Given the description of an element on the screen output the (x, y) to click on. 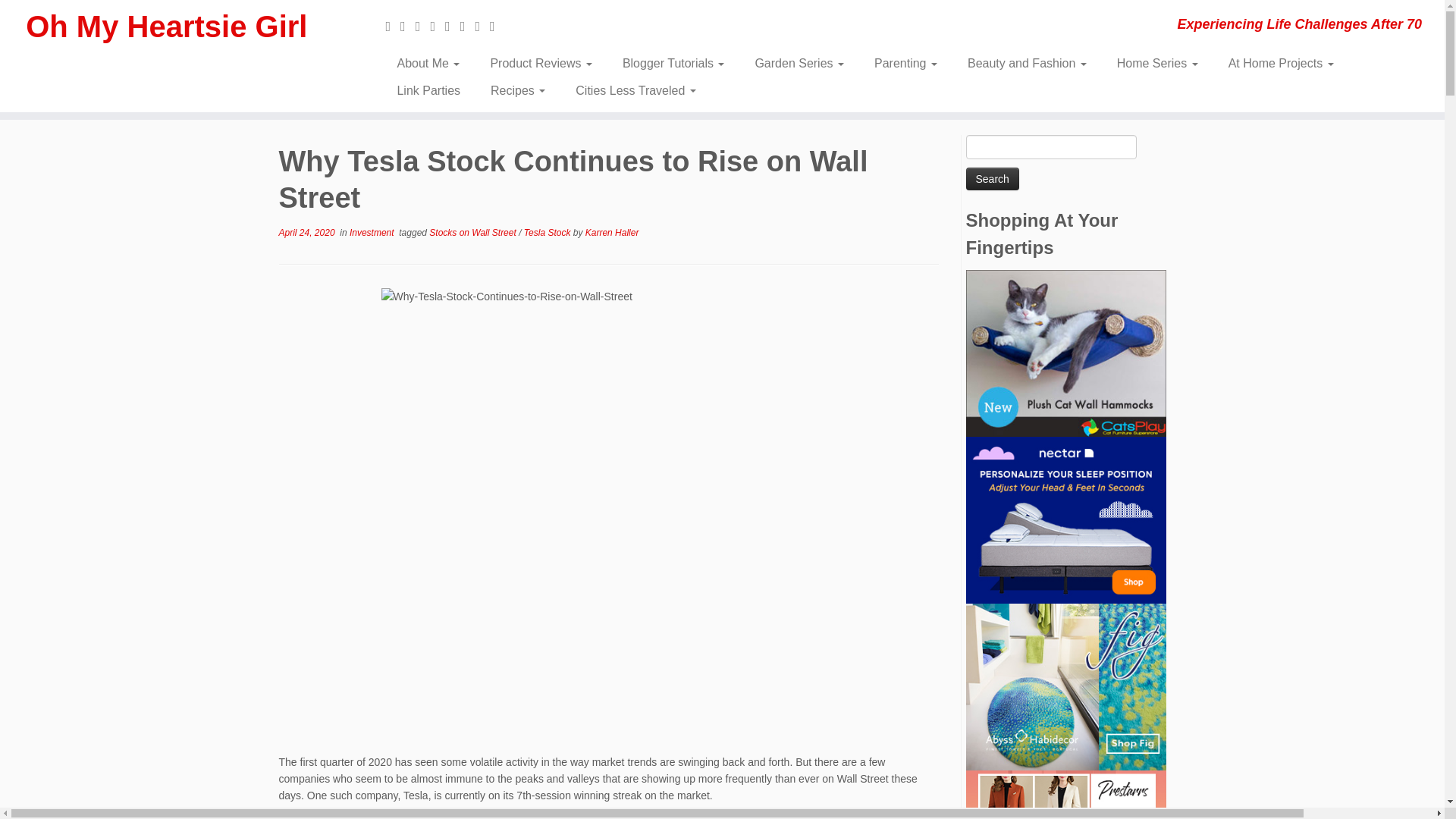
Follow me on Youtube (468, 26)
Subscribe to my rss feed (392, 26)
1:41 PM (306, 232)
View all posts in Investment (372, 232)
Blogger Tutorials (673, 62)
Pin me on Pinterest (481, 26)
Bloglovin (497, 26)
View all posts in Stocks on Wall Street (473, 232)
Follow me on Twitter (422, 26)
